Given the description of an element on the screen output the (x, y) to click on. 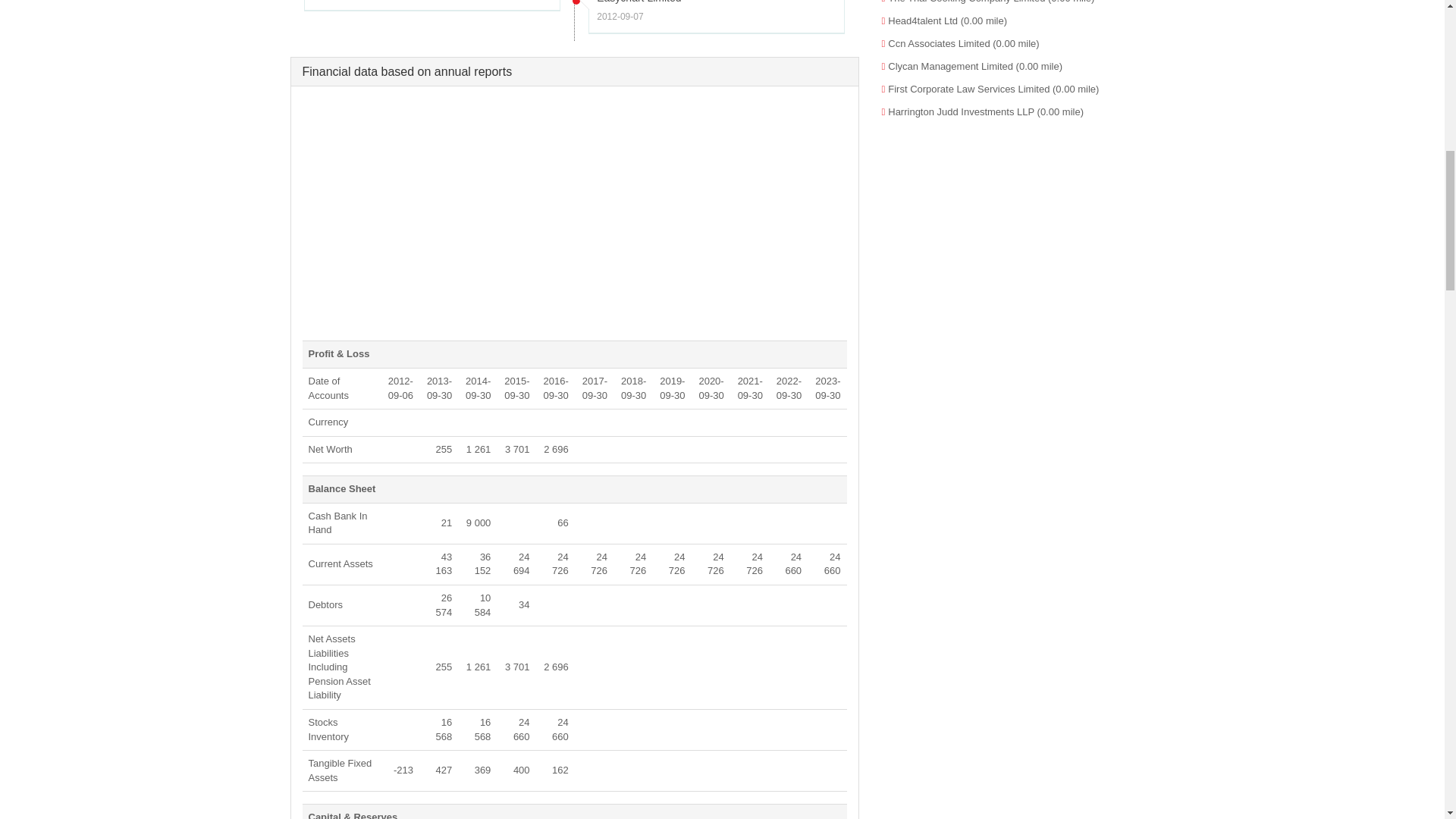
Held by a company in the form of notes and coins (336, 523)
Assets to be used or sold within a year (339, 563)
Physical assets such as land, buildings, tools, machinery (339, 769)
Company's total assets minus its liabilities (329, 449)
Money that other companies or people owe to the business (324, 604)
